Given the description of an element on the screen output the (x, y) to click on. 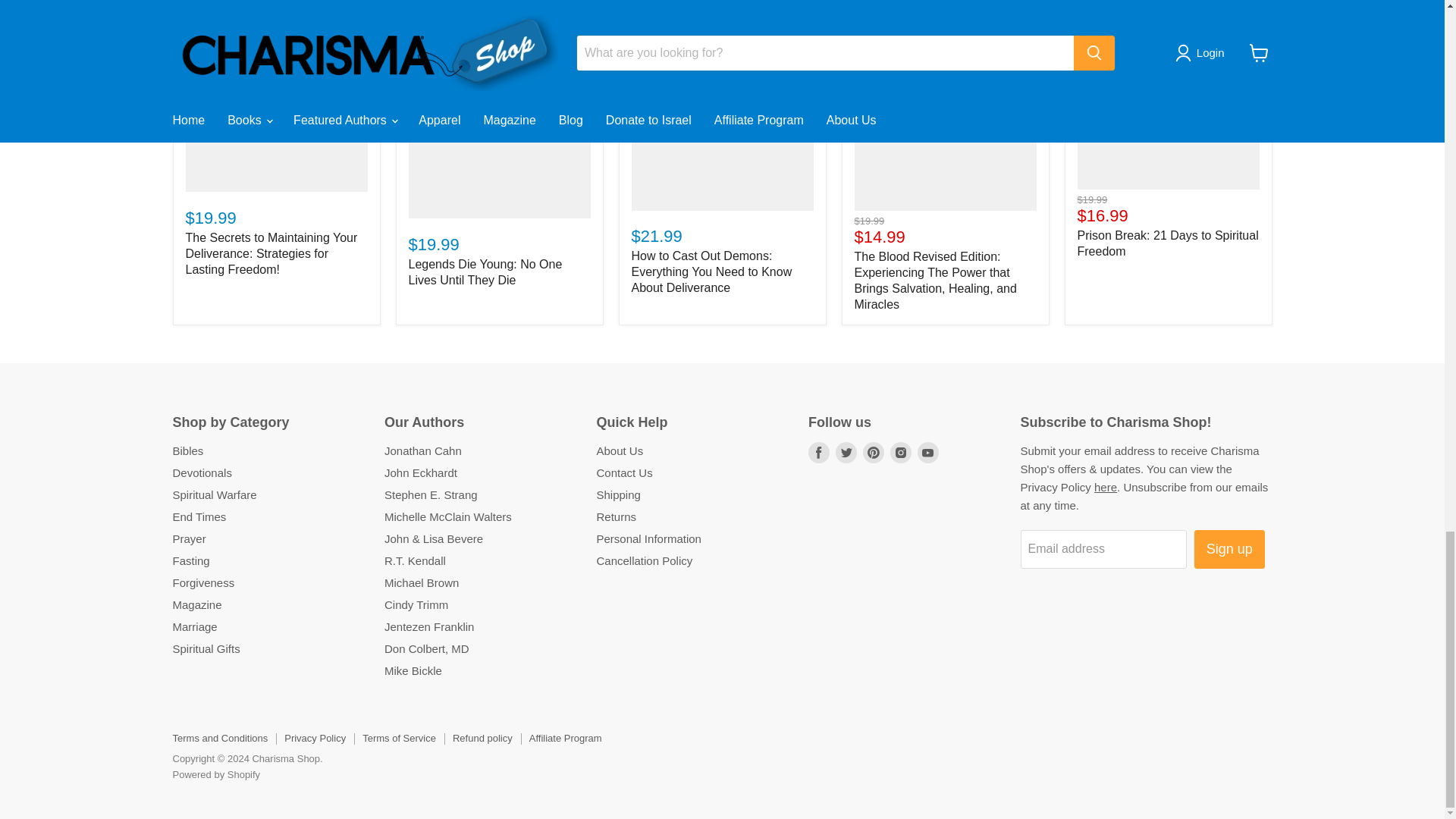
Pinterest (873, 452)
Youtube (928, 452)
Privacy Policy (1105, 486)
Twitter (846, 452)
Facebook (818, 452)
Instagram (900, 452)
